Given the description of an element on the screen output the (x, y) to click on. 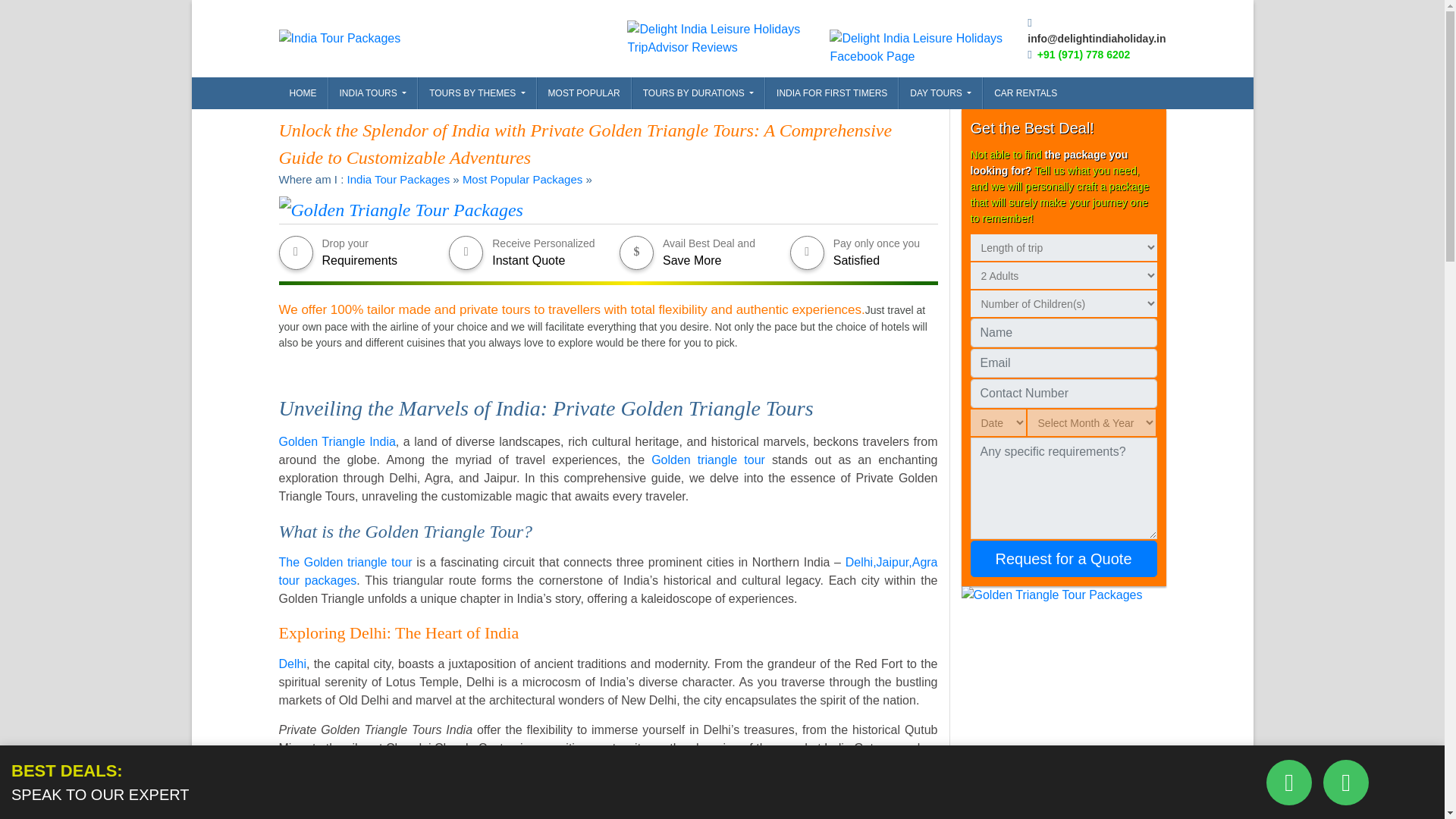
INDIA FOR FIRST TIMERS (831, 92)
INDIA TOURS (372, 92)
Delight India Leisure Holidays TripAdvisor Reviews (728, 37)
MOST POPULAR (584, 92)
Delhi Tour (292, 663)
TOURS BY THEMES (476, 92)
